Given the description of an element on the screen output the (x, y) to click on. 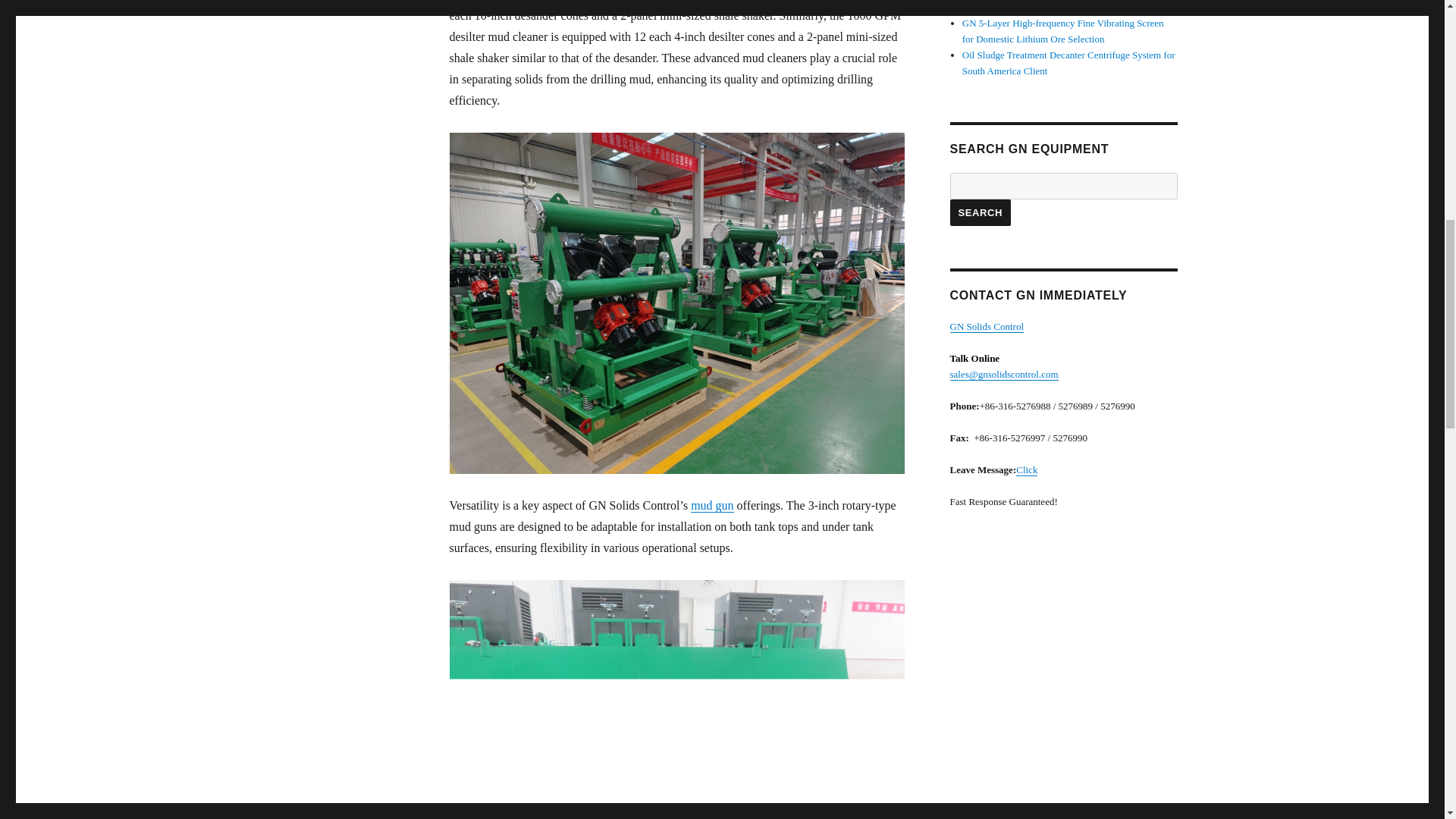
Workover Drilling Rig Mud Tank System for Africa (1064, 7)
mud gun (711, 504)
Contact (986, 326)
GN Solids Control (986, 326)
Search (979, 212)
Mail To (1003, 374)
Click (1026, 469)
Contact (1026, 469)
